Given the description of an element on the screen output the (x, y) to click on. 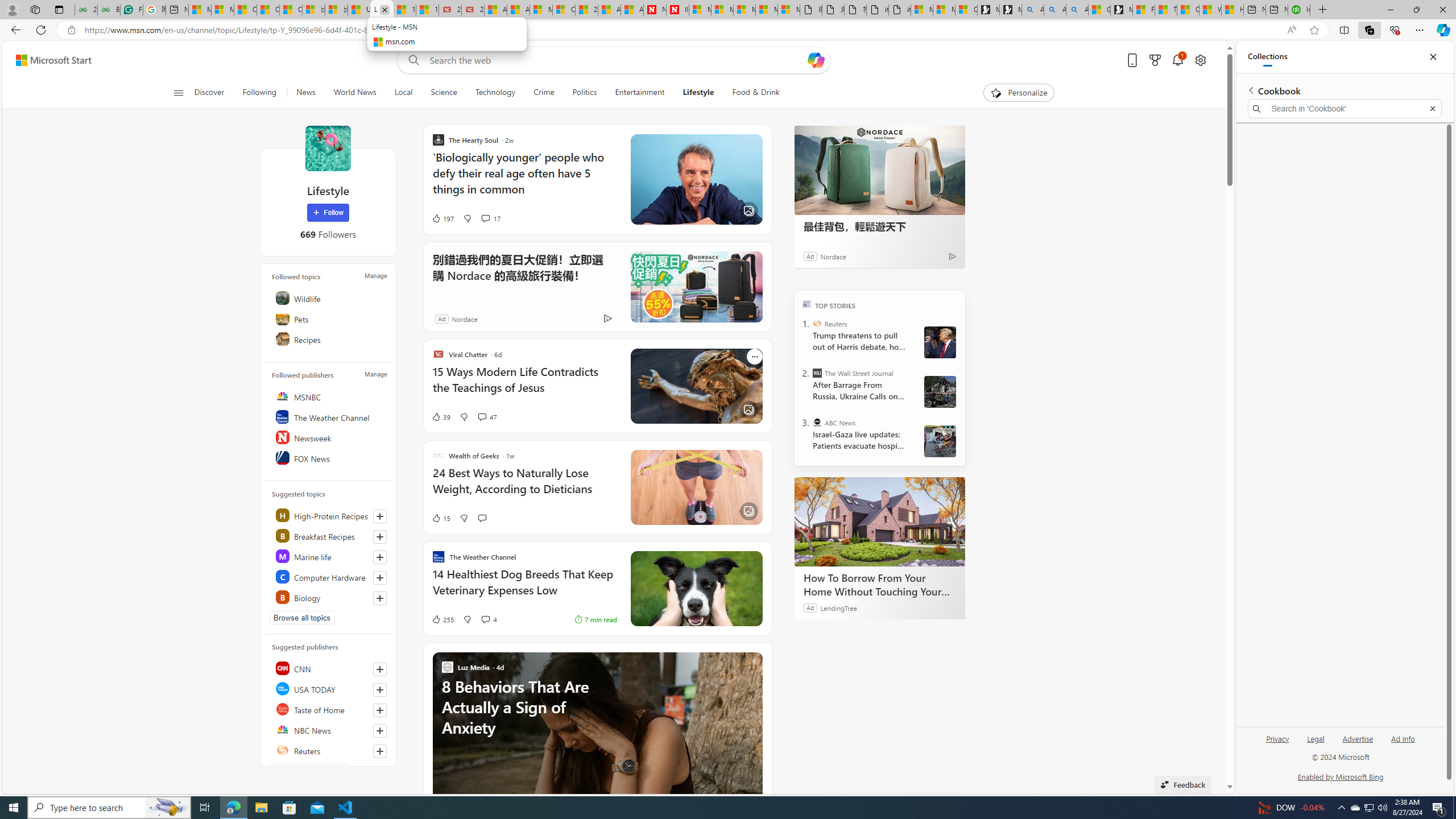
Local (403, 92)
The Wall Street Journal (816, 372)
Open Copilot (816, 59)
View comments 17 Comment (490, 218)
Back to list of collections (1250, 90)
Advertise (1357, 738)
Class: highlight (328, 597)
Skip to content (49, 59)
Search in 'Cookbook' (1345, 108)
Open settings (1199, 60)
Microsoft Start Gaming (1121, 9)
Lifestyle (698, 92)
15 Ways Modern Life Contradicts the Teachings of Jesus (427, 9)
